Given the description of an element on the screen output the (x, y) to click on. 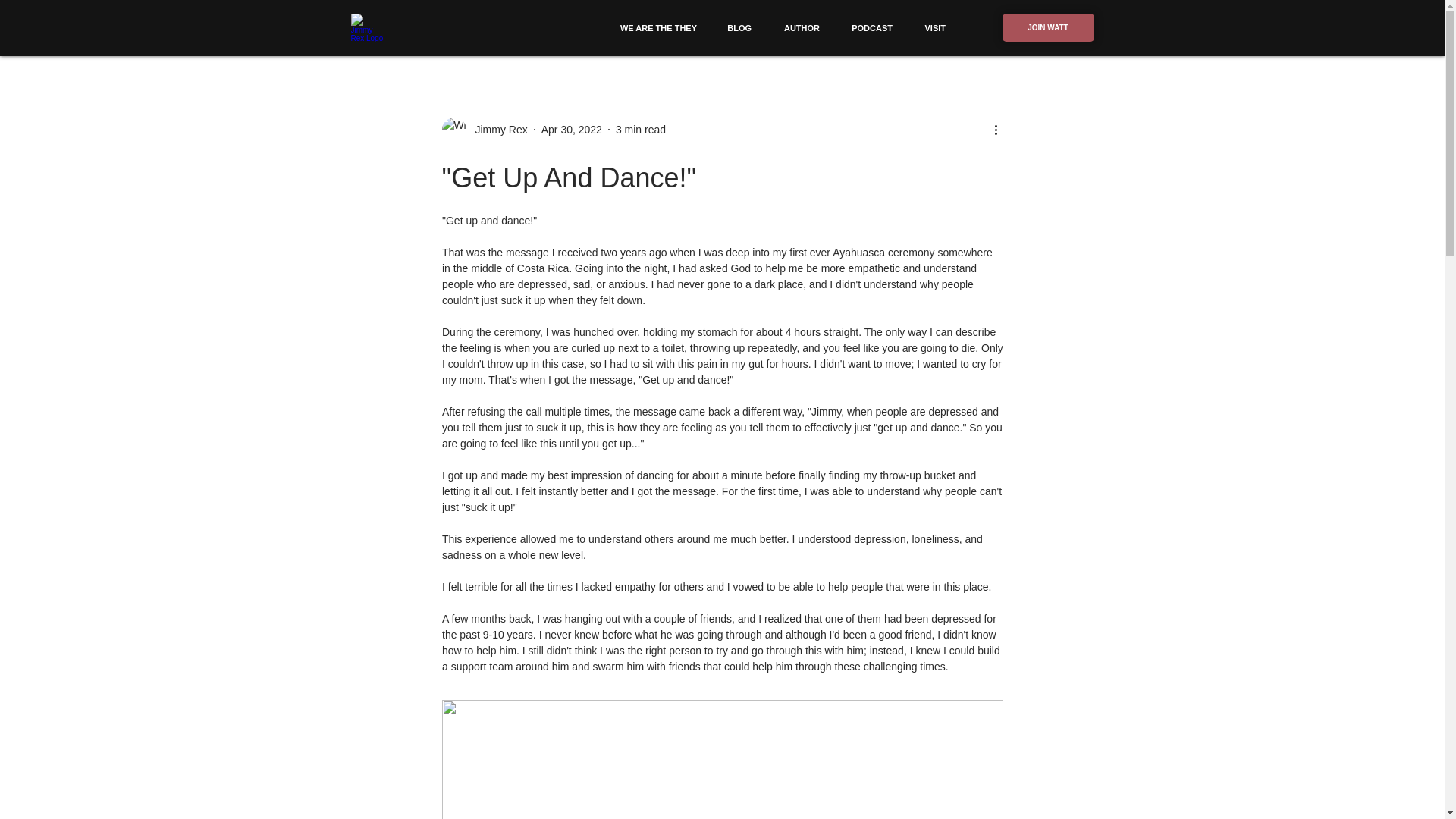
Apr 30, 2022 (571, 128)
JOIN WATT (1048, 27)
BLOG (739, 27)
AUTHOR (800, 27)
PODCAST (870, 27)
WE ARE THE THEY (656, 27)
3 min read (640, 128)
VISIT (933, 27)
Jimmy Rex (496, 129)
